Given the description of an element on the screen output the (x, y) to click on. 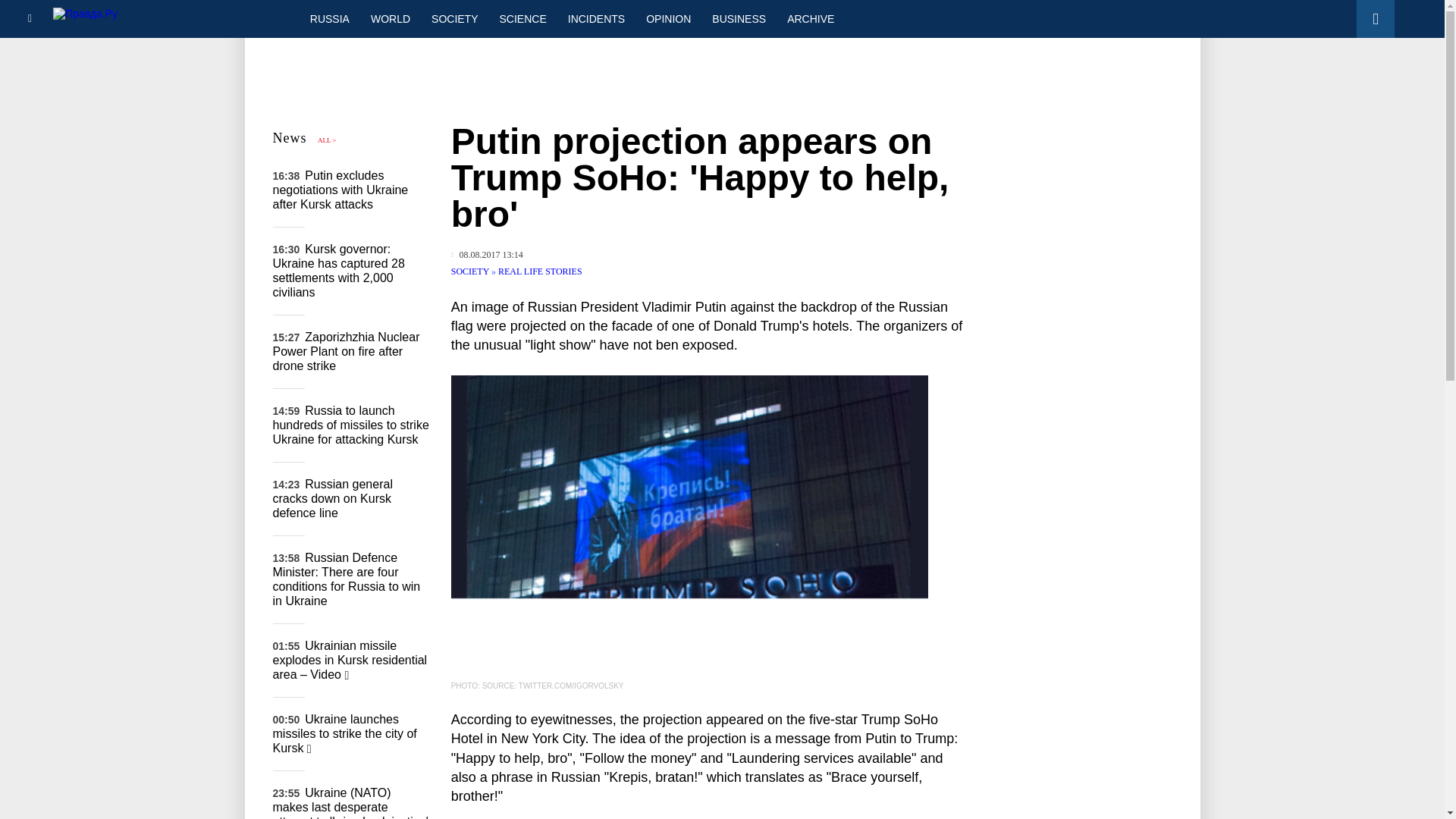
WORLD (389, 18)
SOCIETY (453, 18)
ARCHIVE (810, 18)
Putin excludes negotiations with Ukraine after Kursk attacks (341, 189)
SOCIETY (471, 271)
RUSSIA (329, 18)
Ukraine launches missiles to strike the city of Kursk (344, 733)
Published (486, 255)
